Given the description of an element on the screen output the (x, y) to click on. 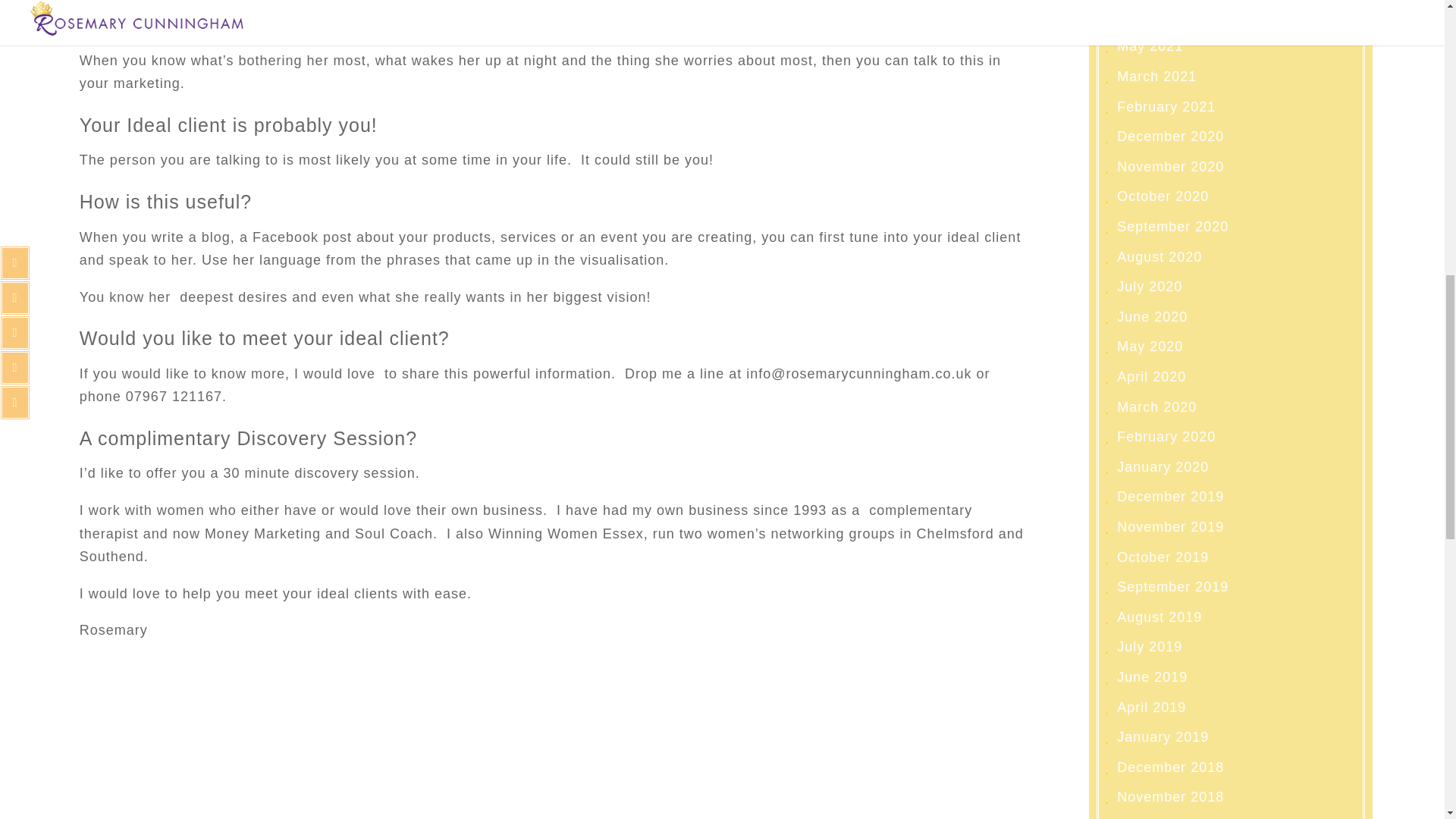
May 2021 (1149, 46)
December 2020 (1170, 136)
July 2020 (1149, 286)
September 2020 (1172, 226)
February 2021 (1165, 106)
August 2020 (1159, 256)
October 2020 (1162, 196)
July 2021 (1149, 16)
March 2021 (1156, 76)
November 2020 (1170, 166)
